Given the description of an element on the screen output the (x, y) to click on. 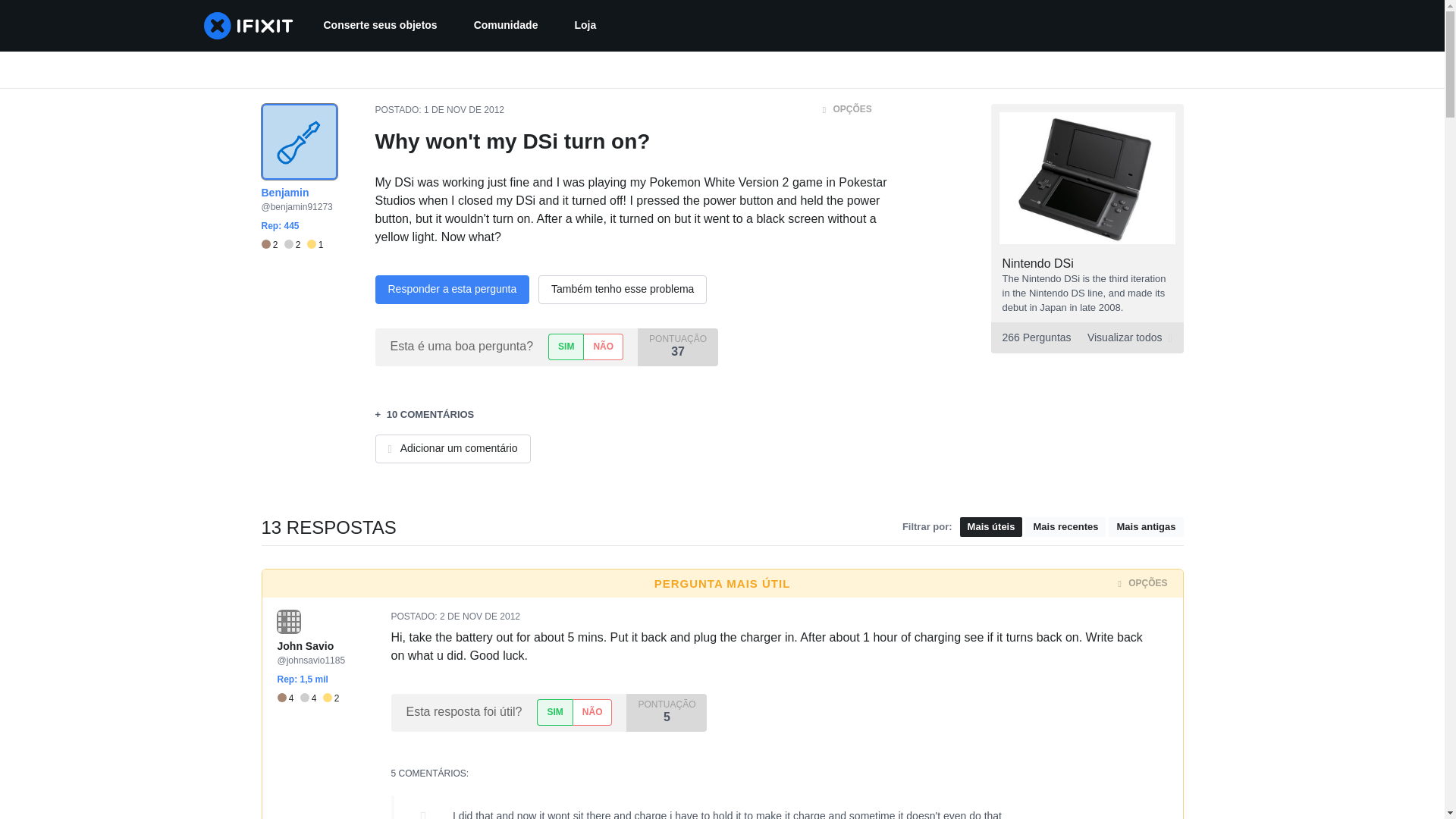
2 emblemas de Ouro (331, 698)
Nintendo DSi (1038, 263)
Mais antigas (1145, 526)
Fri, 02 Nov 2012 01:23:33 -0700 (479, 615)
Loja (585, 25)
4 emblemas de Prata (311, 698)
Conserte seus objetos (1086, 337)
Thu, 01 Nov 2012 17:10:20 -0700 (379, 25)
2 2 1 (463, 109)
